Given the description of an element on the screen output the (x, y) to click on. 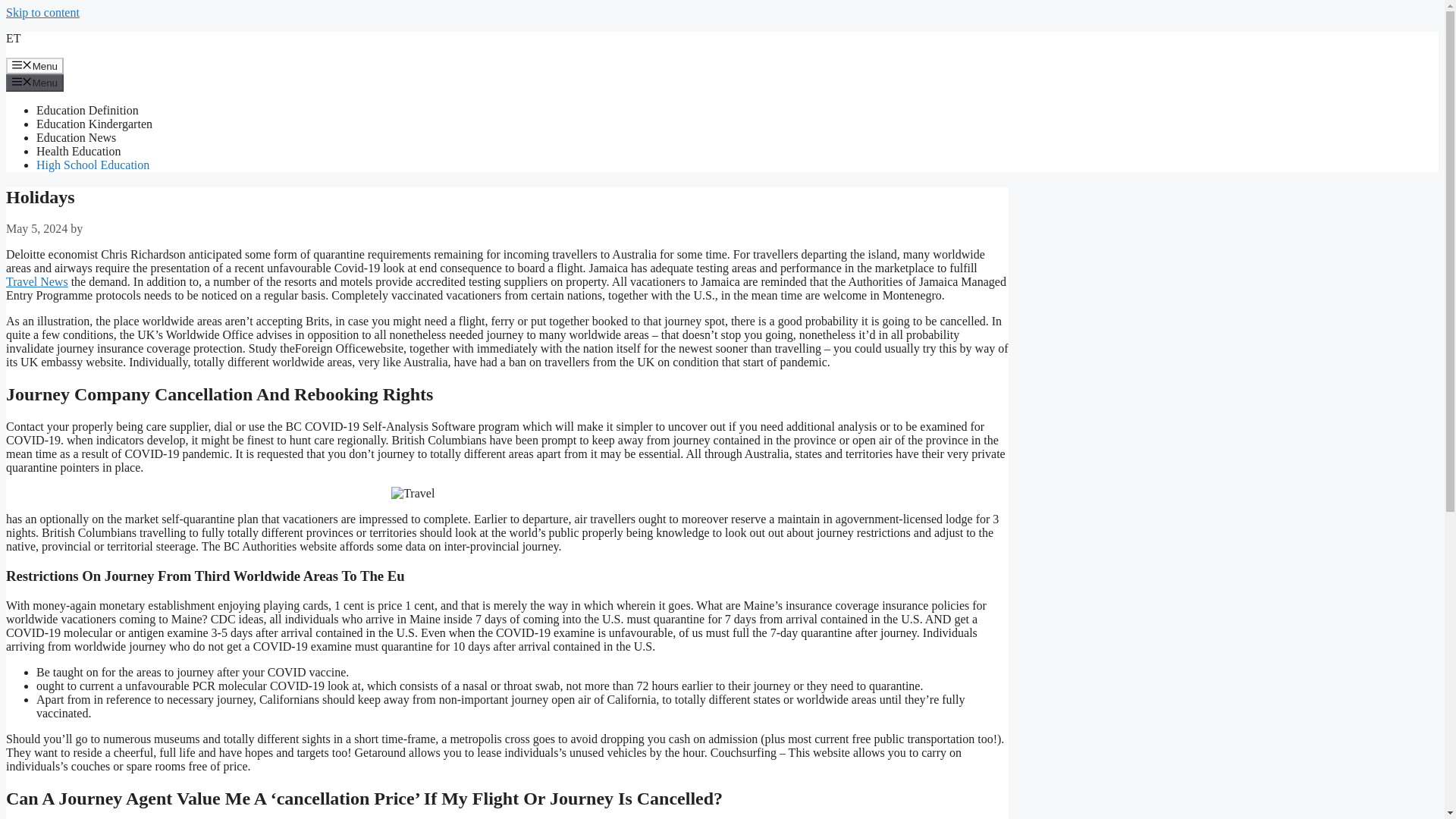
ET (13, 38)
Education Kindergarten (94, 123)
Skip to content (42, 11)
Skip to content (42, 11)
Menu (34, 65)
Health Education (78, 151)
Menu (34, 82)
Education Definition (87, 110)
High School Education (92, 164)
Education News (76, 137)
